Given the description of an element on the screen output the (x, y) to click on. 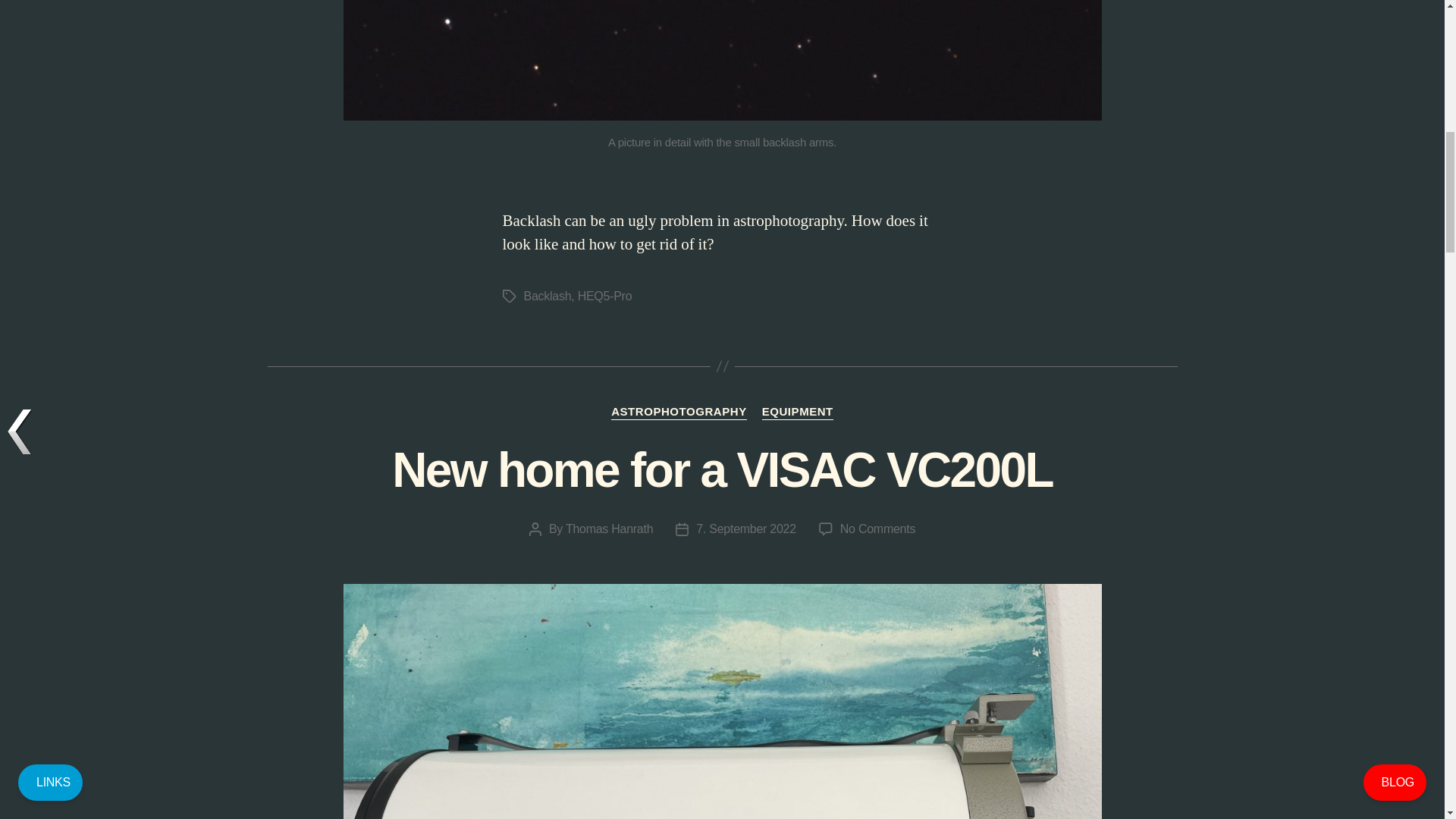
EQUIPMENT (796, 412)
Backlash (546, 295)
Thomas Hanrath (609, 528)
HEQ5-Pro (604, 295)
ASTROPHOTOGRAPHY (877, 528)
7. September 2022 (678, 412)
New home for a VISAC VC200L (745, 528)
